Given the description of an element on the screen output the (x, y) to click on. 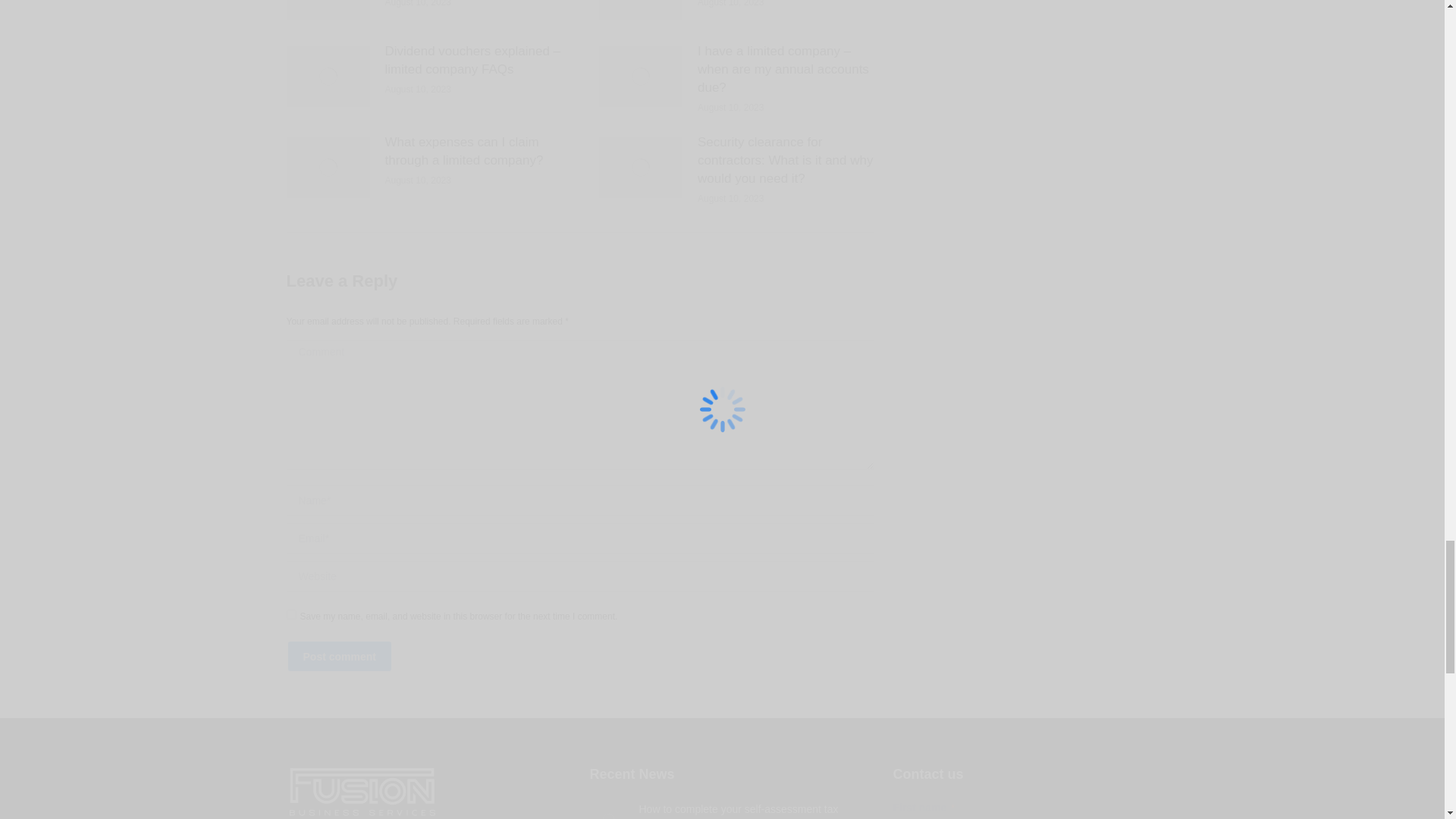
yes (291, 614)
